Given the description of an element on the screen output the (x, y) to click on. 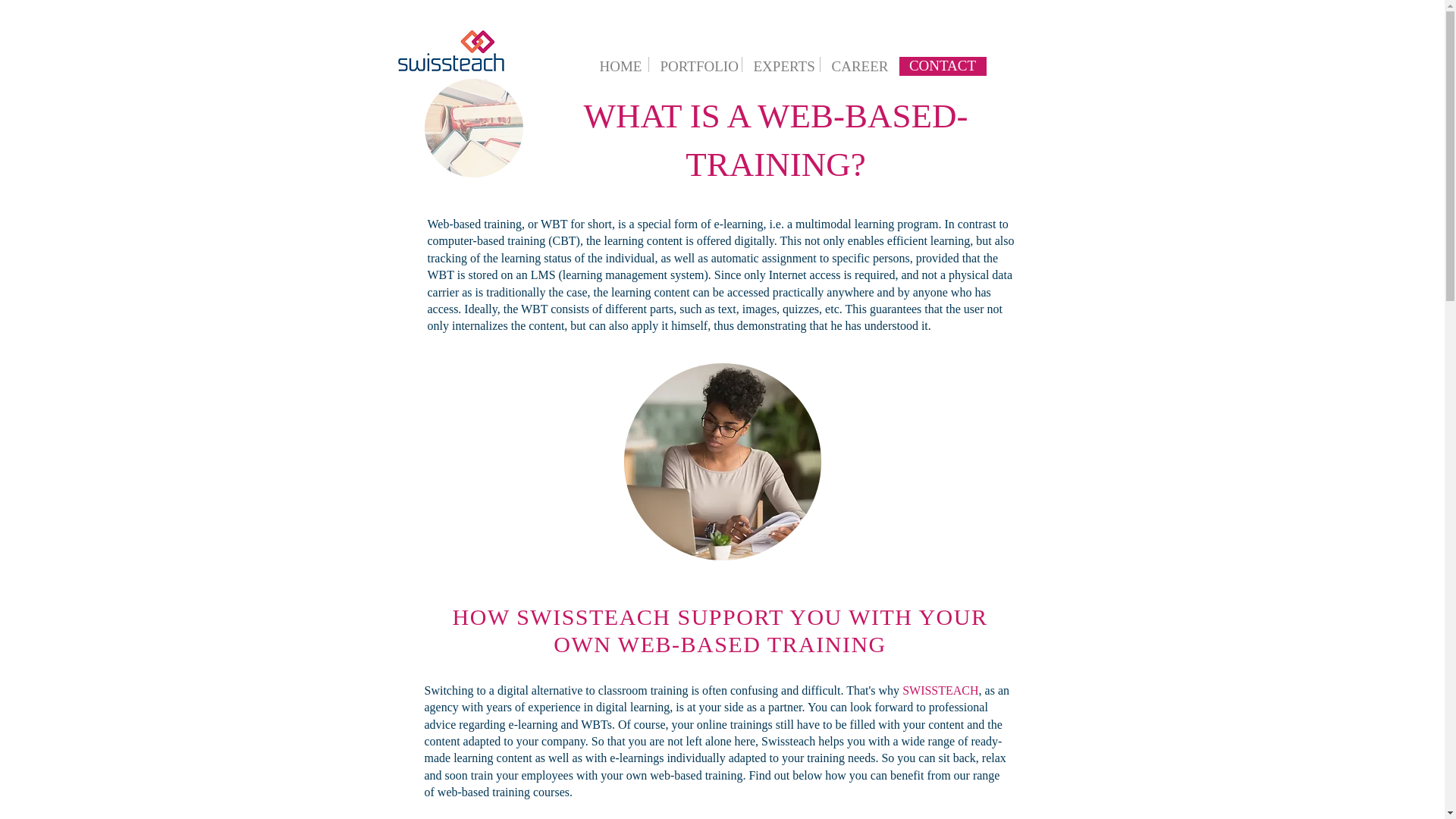
HOME (617, 64)
CONTACT (943, 66)
SWISSTEACH (940, 689)
EXPERTS (779, 64)
CAREER (856, 64)
PORTFOLIO (695, 64)
